Given the description of an element on the screen output the (x, y) to click on. 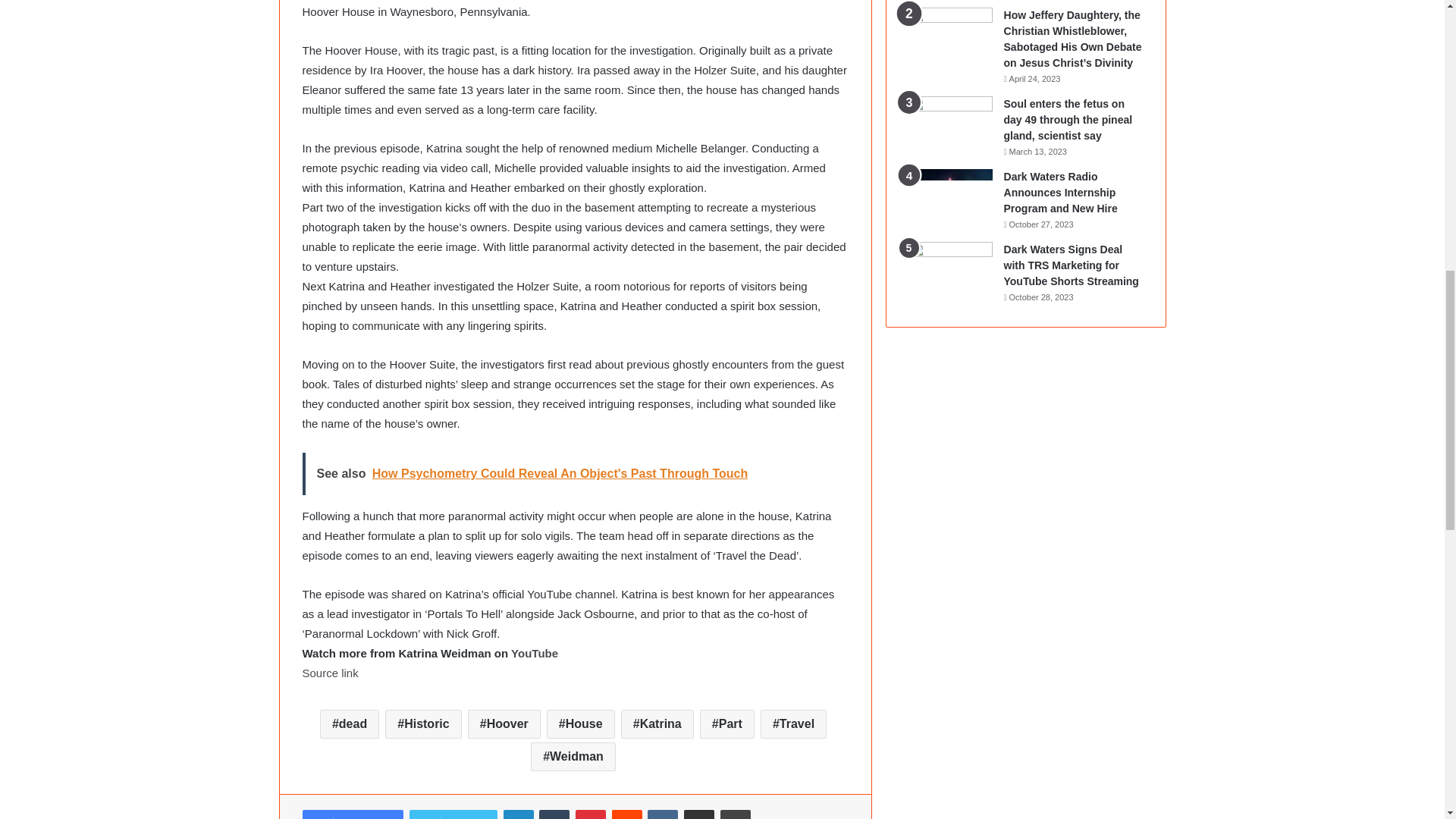
LinkedIn (518, 814)
Tumblr (553, 814)
Facebook (352, 814)
Twitter (453, 814)
Reddit (626, 814)
Share via Email (699, 814)
Twitter (453, 814)
Travel (793, 724)
Reddit (626, 814)
LinkedIn (518, 814)
